Given the description of an element on the screen output the (x, y) to click on. 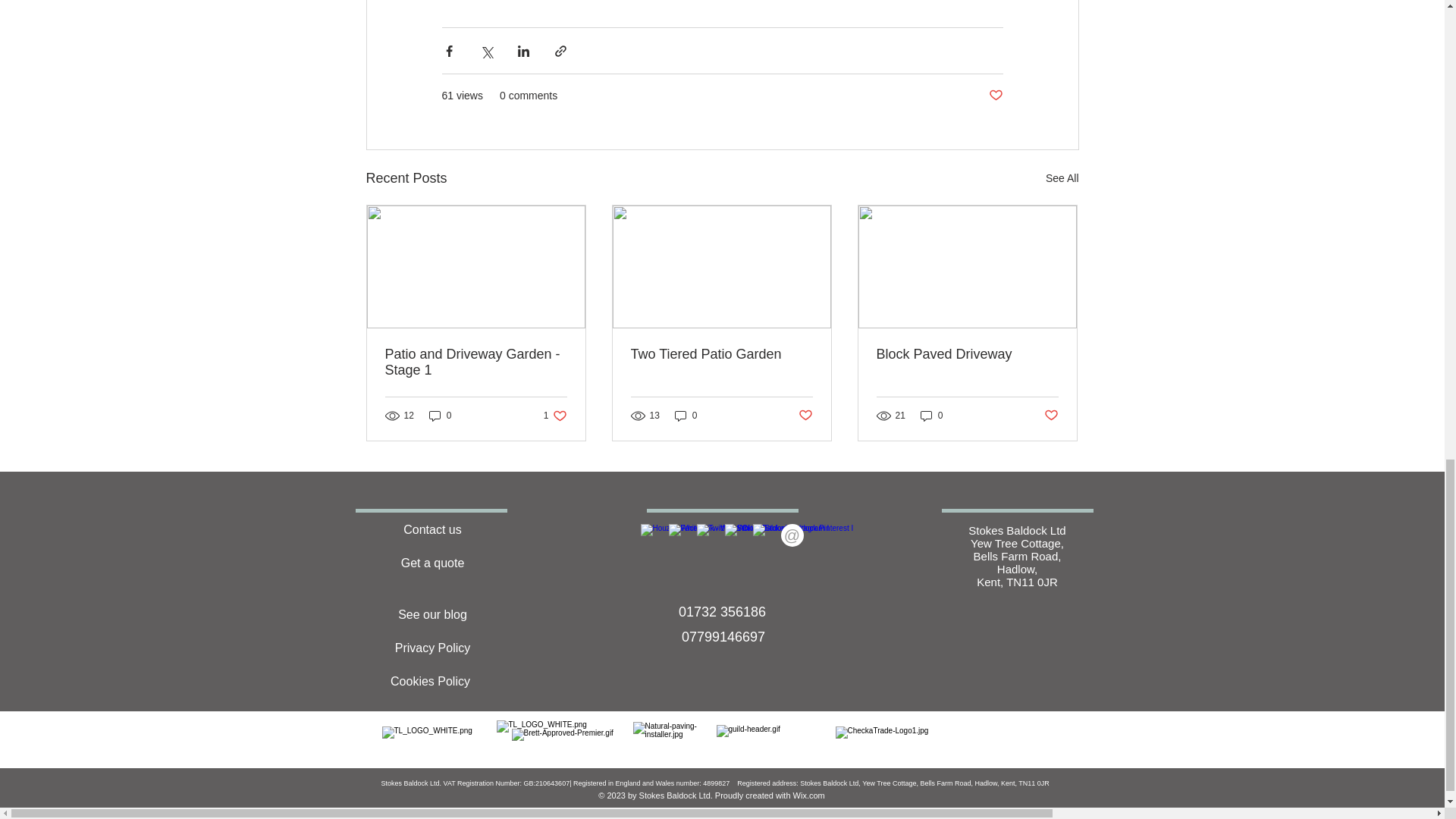
See All (1061, 178)
0 (440, 415)
Post not marked as liked (995, 95)
Patio and Driveway Garden - Stage 1 (476, 362)
